Given the description of an element on the screen output the (x, y) to click on. 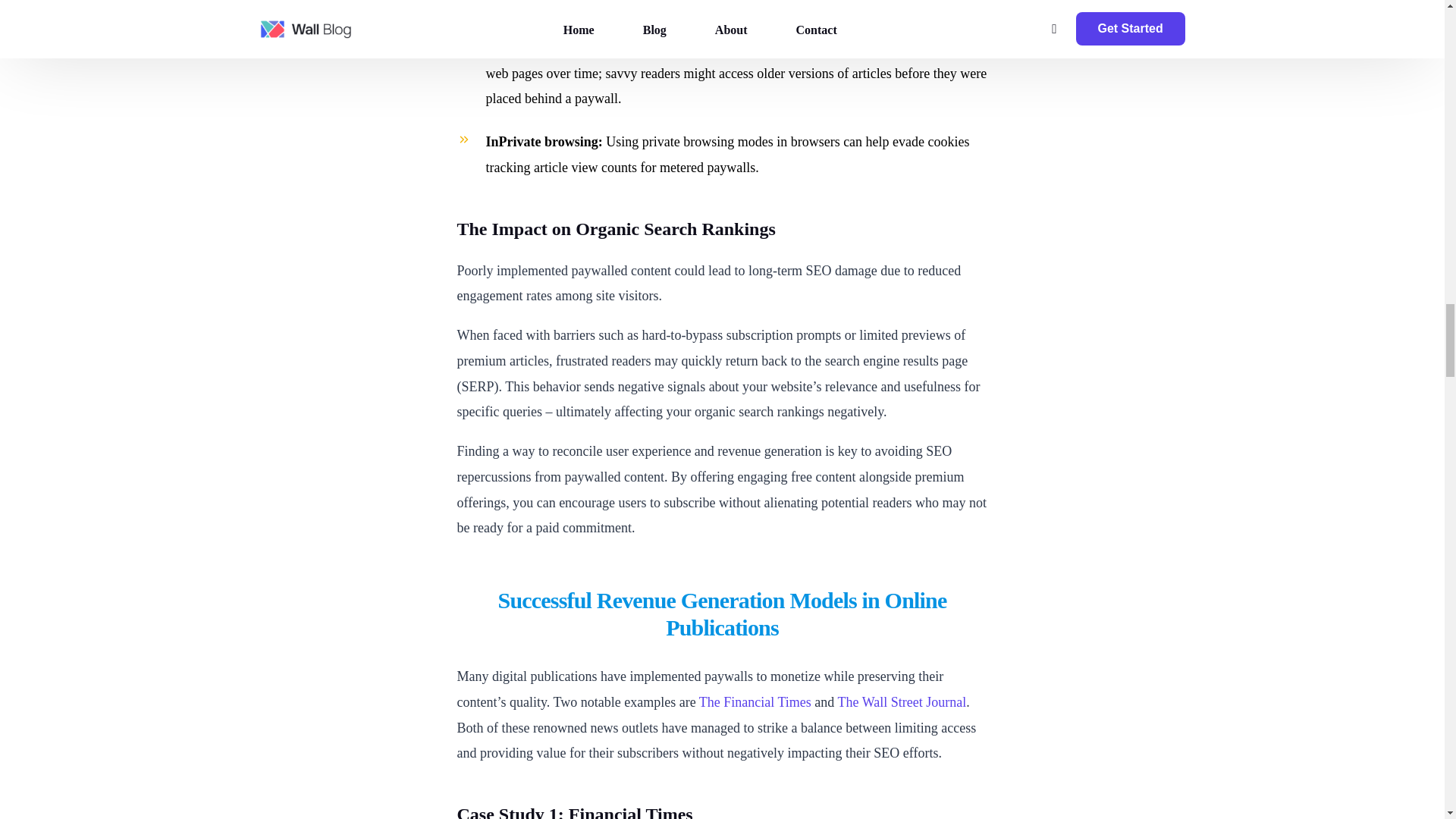
The Financial Times (754, 702)
The Wall Street Journal (901, 702)
